Given the description of an element on the screen output the (x, y) to click on. 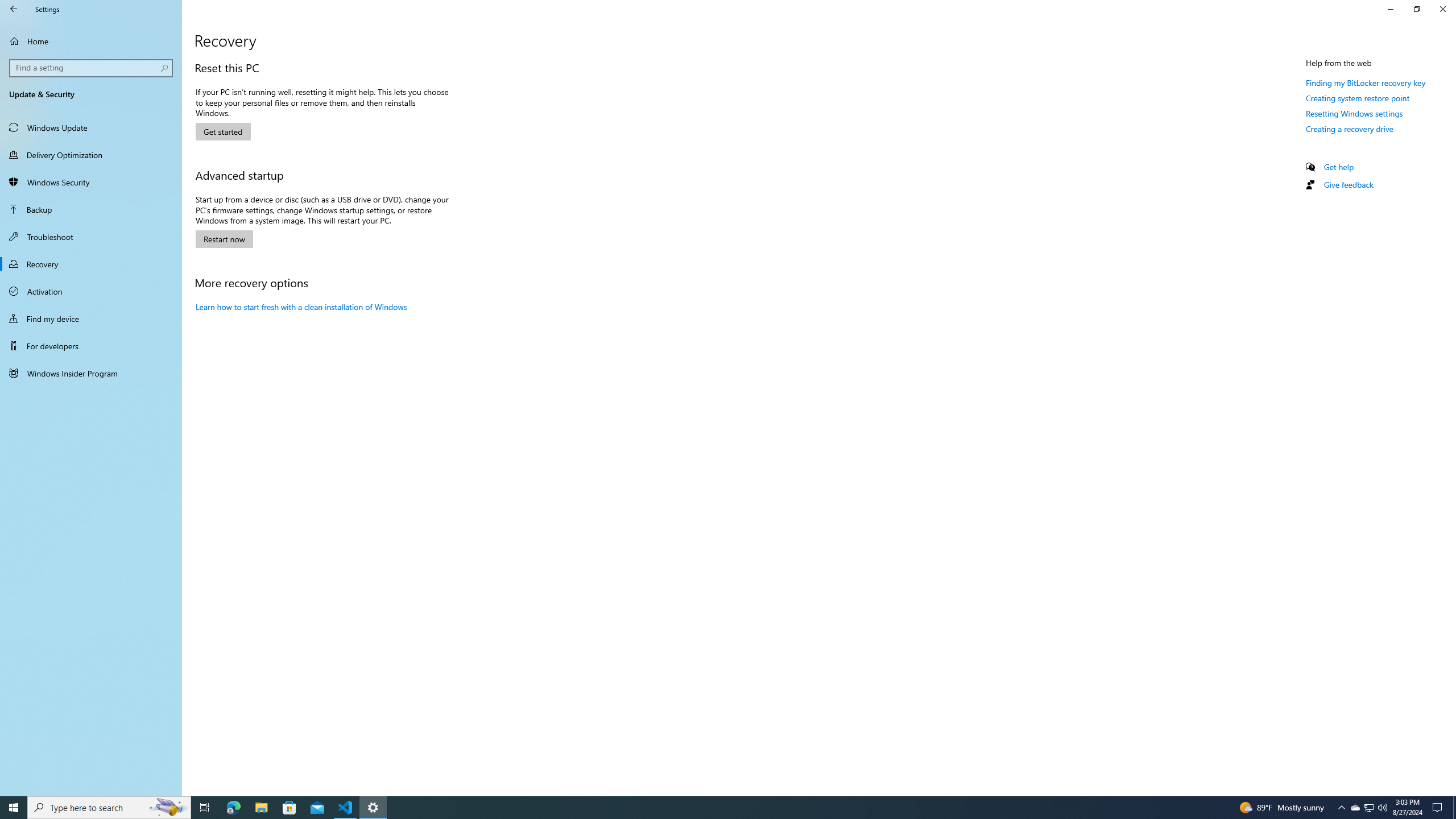
Restart now to view advanced startup options (1355, 807)
Windows Update (224, 239)
Creating system restore point (91, 126)
Get started with resetting this PC (1357, 97)
Get help (222, 131)
Backup (1338, 166)
Search box, Find a setting (91, 208)
Notification Chevron (91, 67)
Task View (1341, 807)
Troubleshoot (204, 807)
User Promoted Notification Area (91, 236)
File Explorer (1368, 807)
Settings - 1 running window (261, 807)
